Given the description of an element on the screen output the (x, y) to click on. 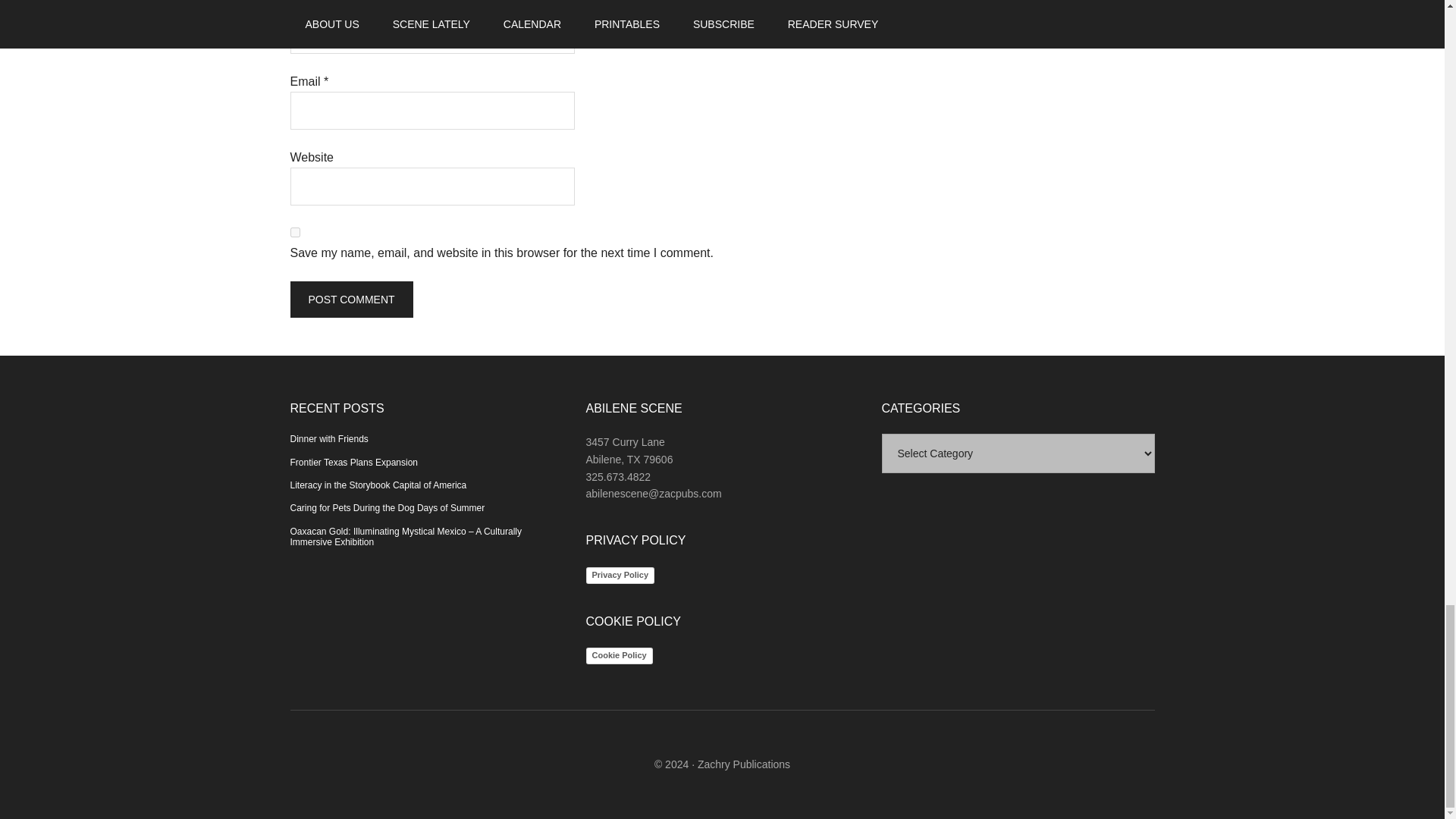
yes (294, 232)
Privacy Policy  (619, 575)
Cookie Policy  (618, 655)
Post Comment (350, 299)
